Given the description of an element on the screen output the (x, y) to click on. 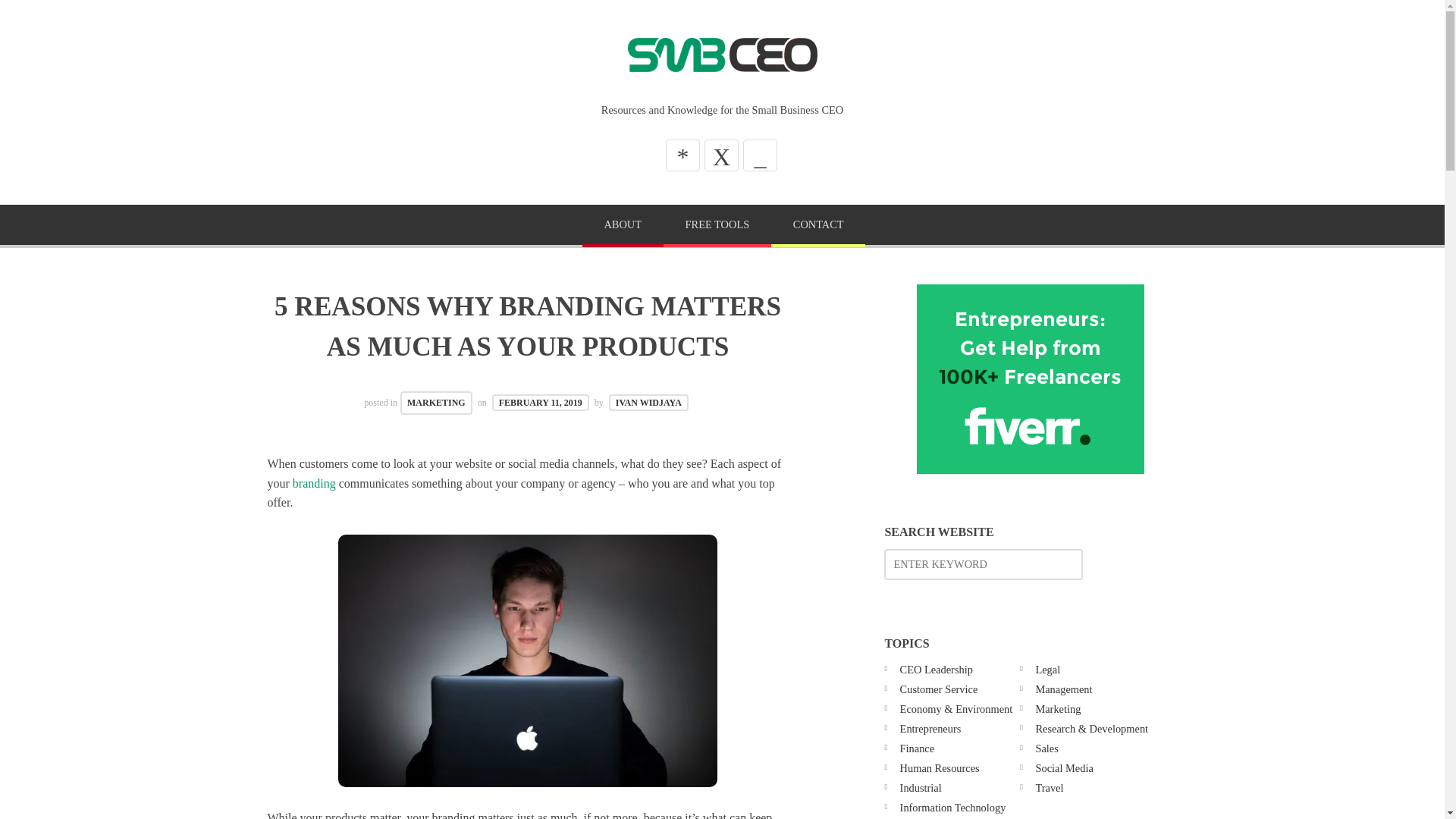
Search (45, 16)
View all posts by Ivan Widjaya (648, 402)
MARKETING (435, 402)
FREE TOOLS (717, 225)
FEBRUARY 11, 2019 (540, 402)
CONTACT (817, 225)
CEO Leadership (935, 669)
IVAN WIDJAYA (648, 402)
ABOUT (622, 225)
4:42 am (540, 402)
